Given the description of an element on the screen output the (x, y) to click on. 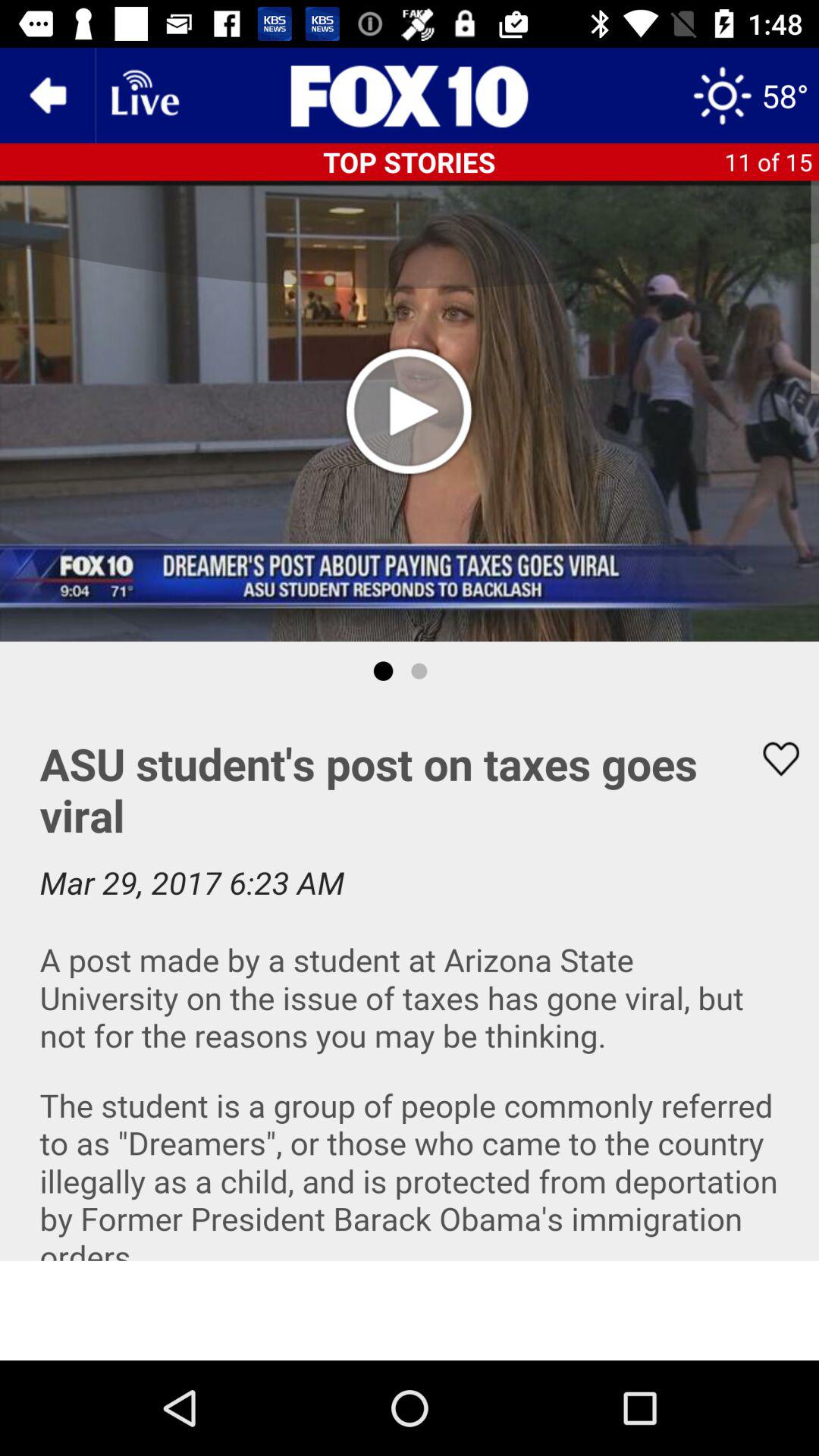
to move back (47, 95)
